Given the description of an element on the screen output the (x, y) to click on. 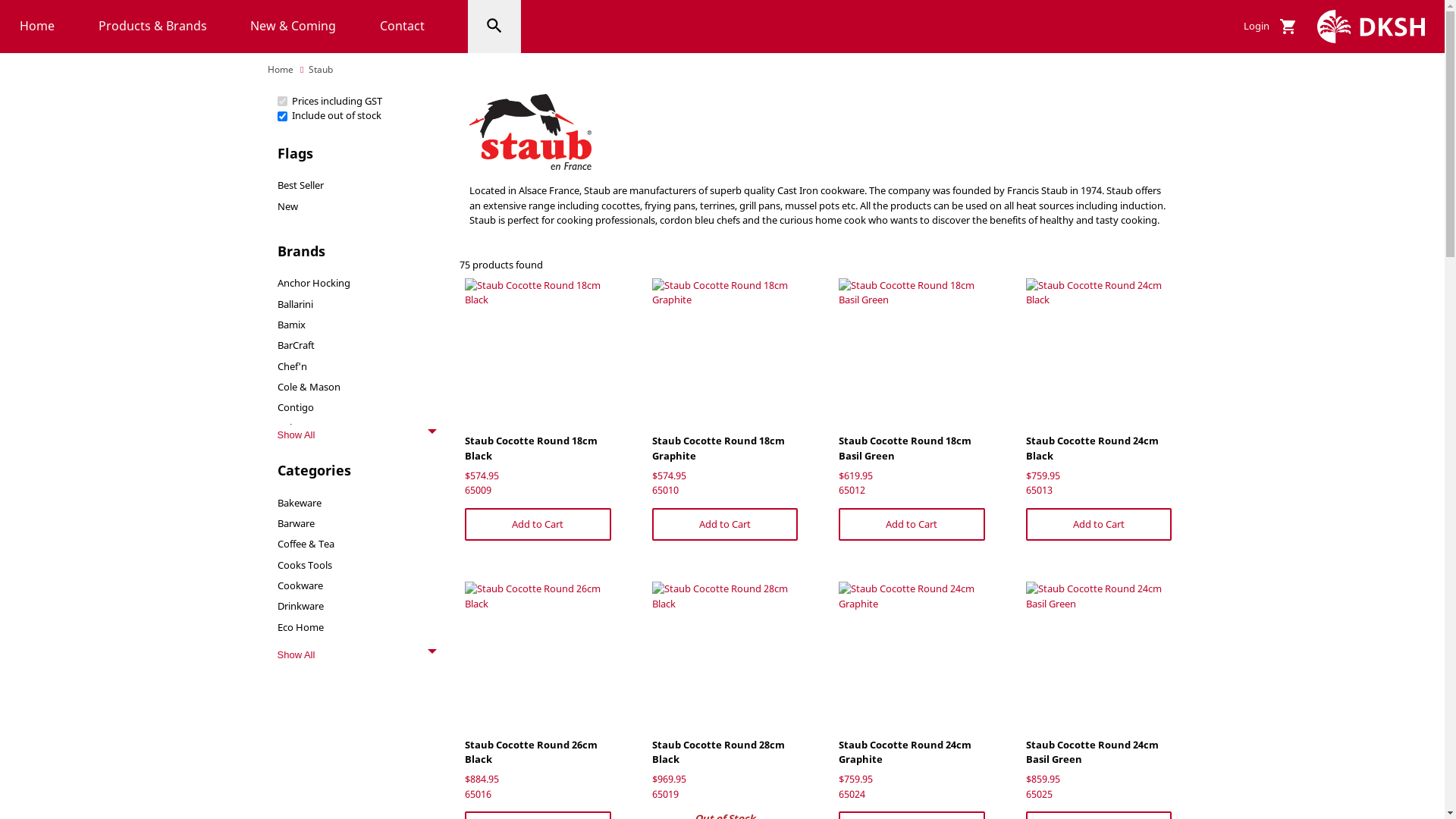
Show All Element type: text (356, 654)
Anchor Hocking Element type: text (313, 282)
Add to Cart Element type: text (911, 524)
New & Coming Element type: text (292, 26)
Show All Element type: text (356, 434)
New Element type: text (287, 206)
Add to Cart Element type: text (1098, 524)
Search Products Element type: text (493, 26)
Home Appliances Element type: text (316, 647)
Home Element type: text (279, 68)
Cart Element type: hover (1288, 26)
Cooks Tools Element type: text (304, 564)
Staub Cocotte Round 18cm Black
$574.95
65009
Add to Cart Element type: text (538, 409)
Coffee & Tea Element type: text (305, 543)
Login Element type: text (1256, 26)
Drinkware Element type: text (300, 605)
Home Element type: text (36, 26)
Contigo Element type: text (295, 407)
Cuisena Element type: text (295, 427)
Staub Cocotte Round 18cm Graphite
$574.95
65010
Add to Cart Element type: text (724, 409)
Bakeware Element type: text (299, 502)
Staub Cocotte Round 24cm Black
$759.95
65013
Add to Cart Element type: text (1098, 409)
Products & Brands Element type: text (152, 26)
Add to Cart Element type: text (725, 524)
Ballarini Element type: text (295, 303)
Cole & Mason Element type: text (308, 386)
BarCraft Element type: text (295, 344)
Contact Element type: text (401, 26)
Add to Cart Element type: text (537, 524)
Best Seller Element type: text (300, 184)
Cookware Element type: text (300, 585)
Barware Element type: text (295, 523)
Bamix Element type: text (291, 324)
Chef'n Element type: text (292, 366)
Eco Home Element type: text (300, 626)
